Given the description of an element on the screen output the (x, y) to click on. 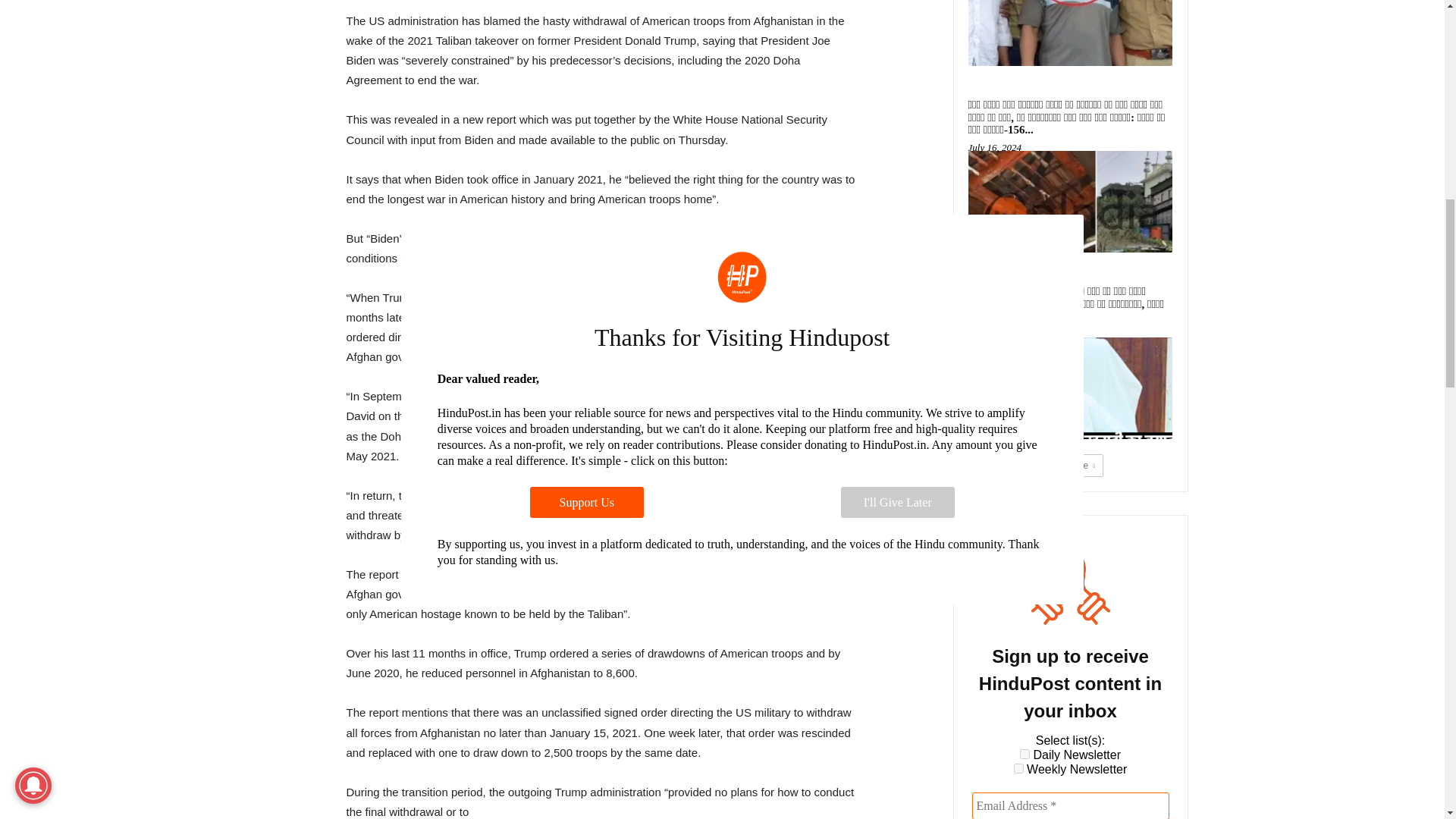
9 (1018, 768)
3 (1024, 754)
